Given the description of an element on the screen output the (x, y) to click on. 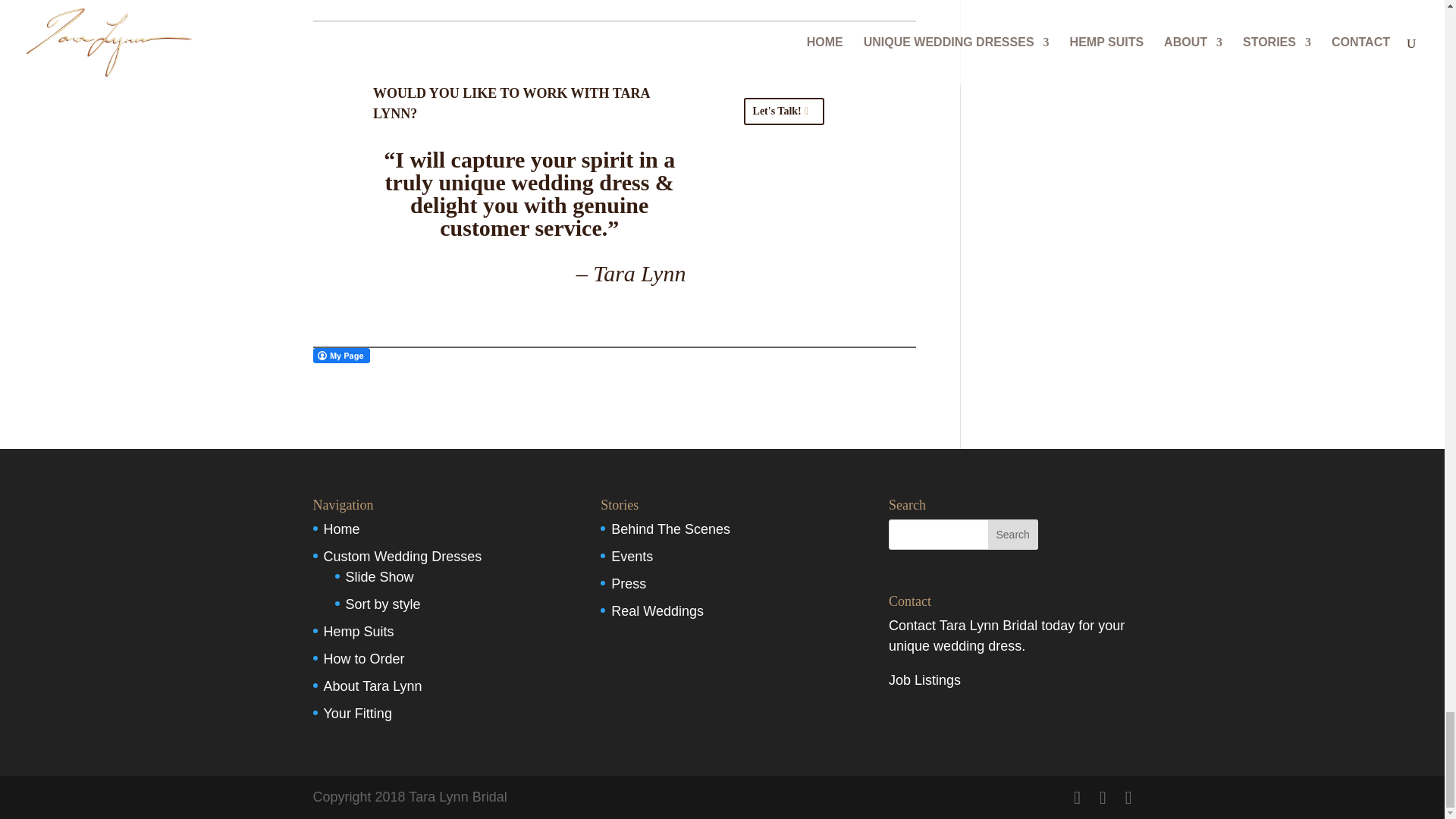
Search (1013, 534)
